Given the description of an element on the screen output the (x, y) to click on. 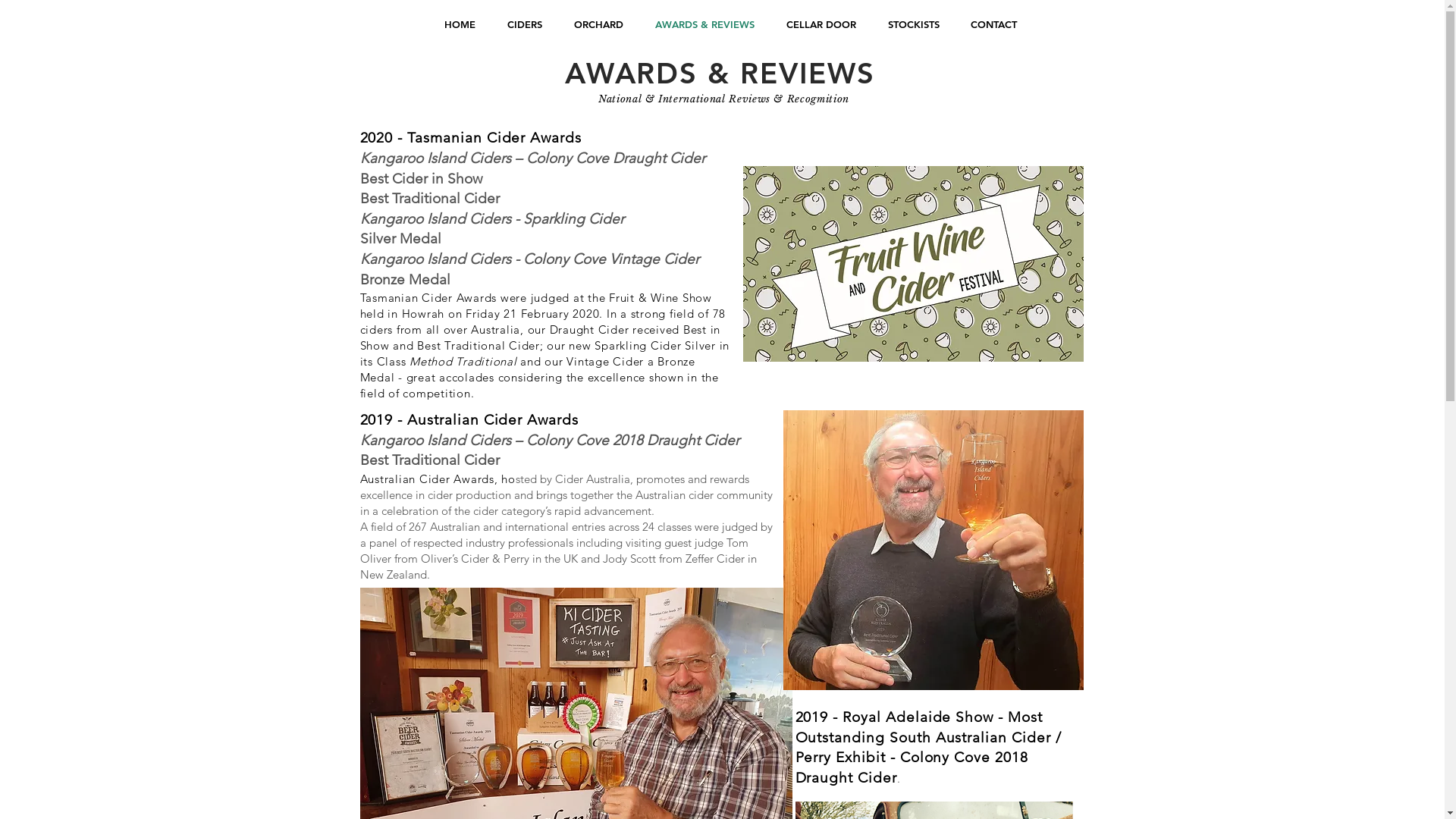
CONTACT Element type: text (993, 23)
AWARDS & REVIEWS Element type: text (703, 23)
CIDERS Element type: text (524, 23)
ORCHARD Element type: text (598, 23)
HOME Element type: text (458, 23)
STOCKISTS Element type: text (913, 23)
CELLAR DOOR Element type: text (821, 23)
